Given the description of an element on the screen output the (x, y) to click on. 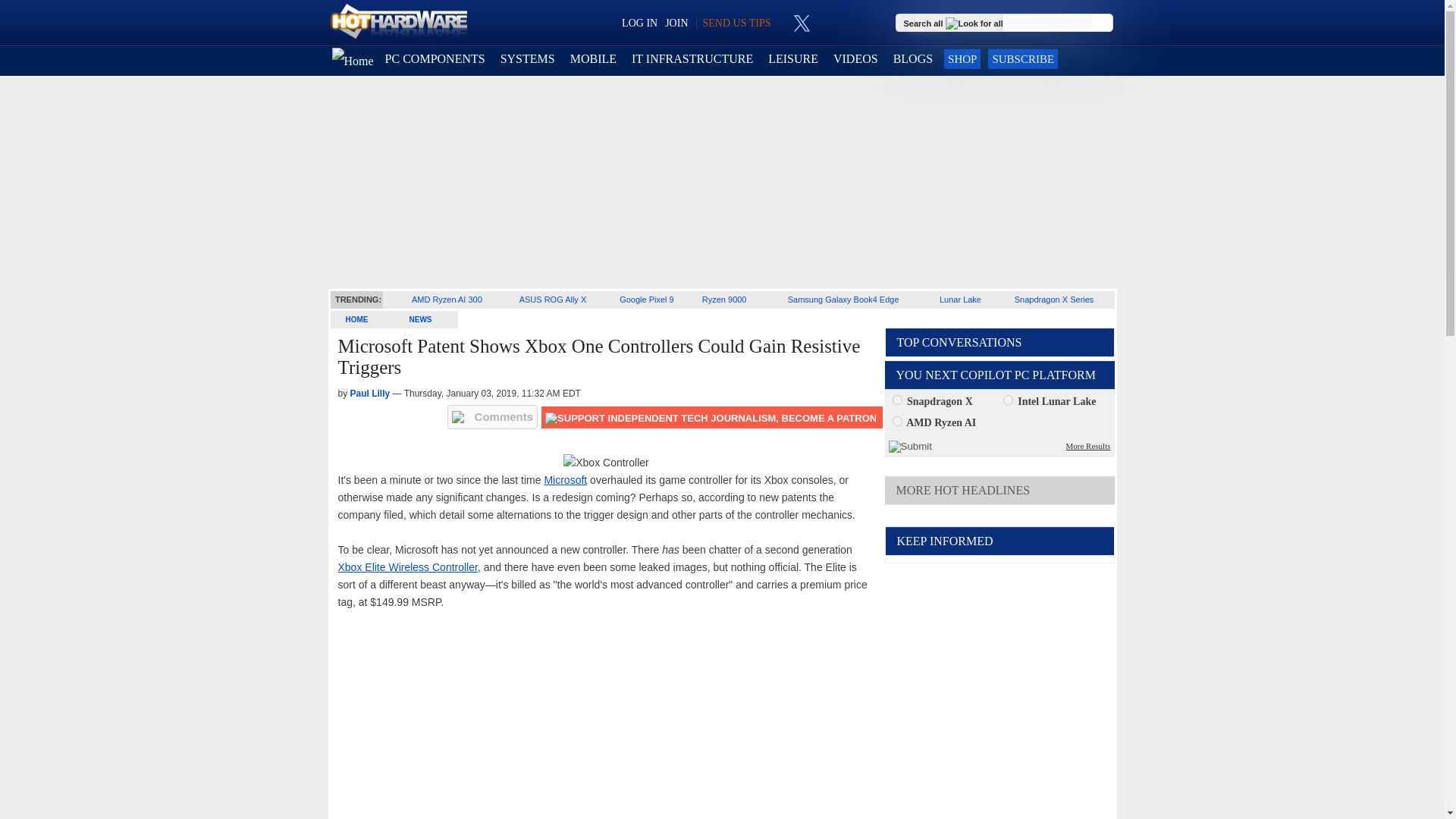
Search all (955, 22)
SEND US TIPS (735, 22)
Blogs (912, 58)
759 (896, 420)
PC COMPONENTS (435, 58)
758 (1008, 399)
Go (1103, 22)
keyword (1049, 21)
LOG IN (639, 22)
JOIN (676, 22)
